Given the description of an element on the screen output the (x, y) to click on. 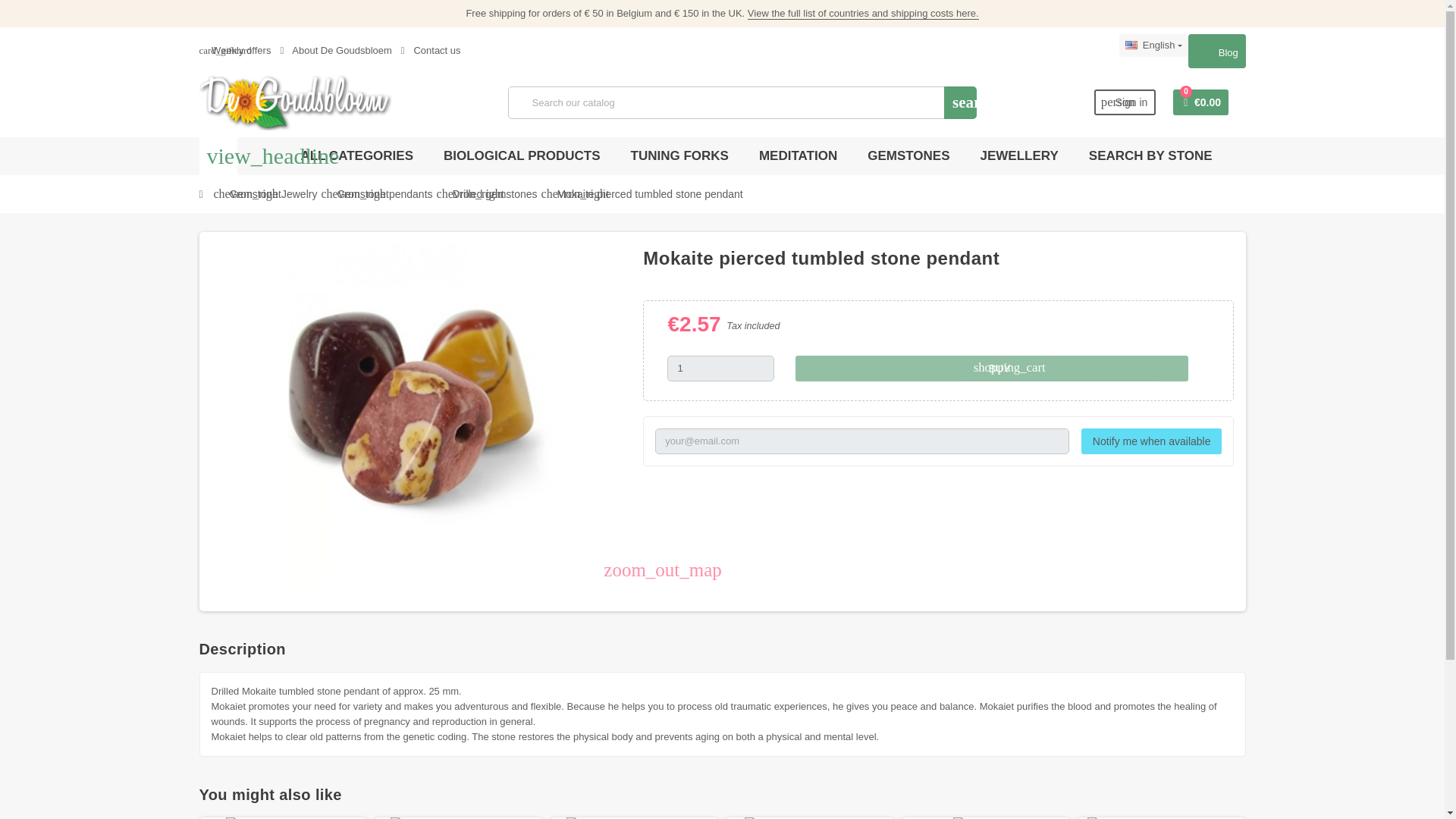
Notify me when available (1152, 441)
Mokaite rough, p  kg (985, 818)
ALL CATEGORIES (356, 156)
View the full list of countries and shipping costs here. (863, 13)
BIOLOGICAL PRODUCTS (521, 156)
TUNING FORKS (679, 156)
De Goudsbloem (294, 101)
SEARCH BY STONE (1150, 156)
search (959, 102)
